Given the description of an element on the screen output the (x, y) to click on. 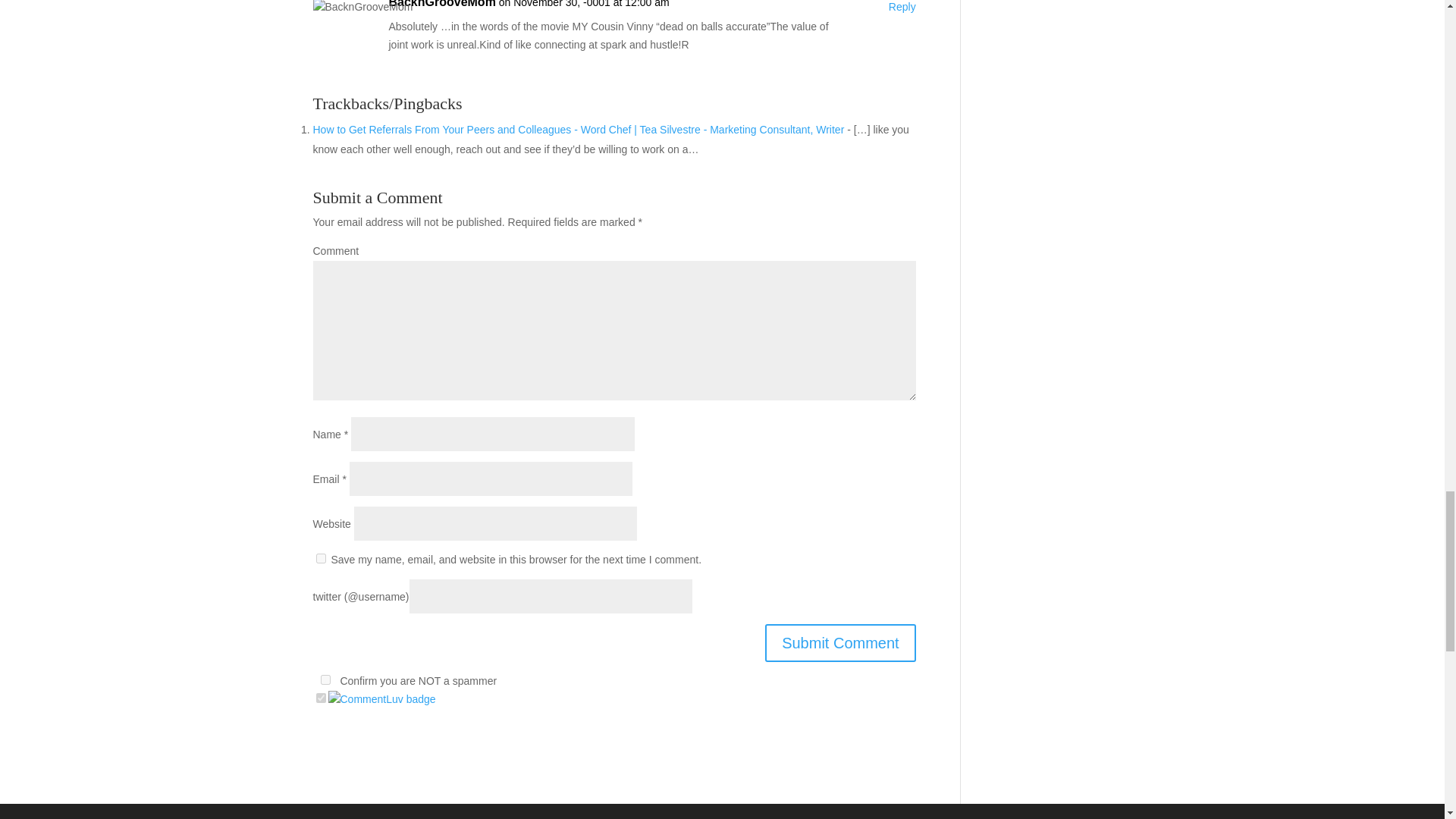
Submit Comment (840, 642)
on (324, 679)
CommentLuv is enabled (381, 698)
on (319, 697)
yes (319, 558)
